Given the description of an element on the screen output the (x, y) to click on. 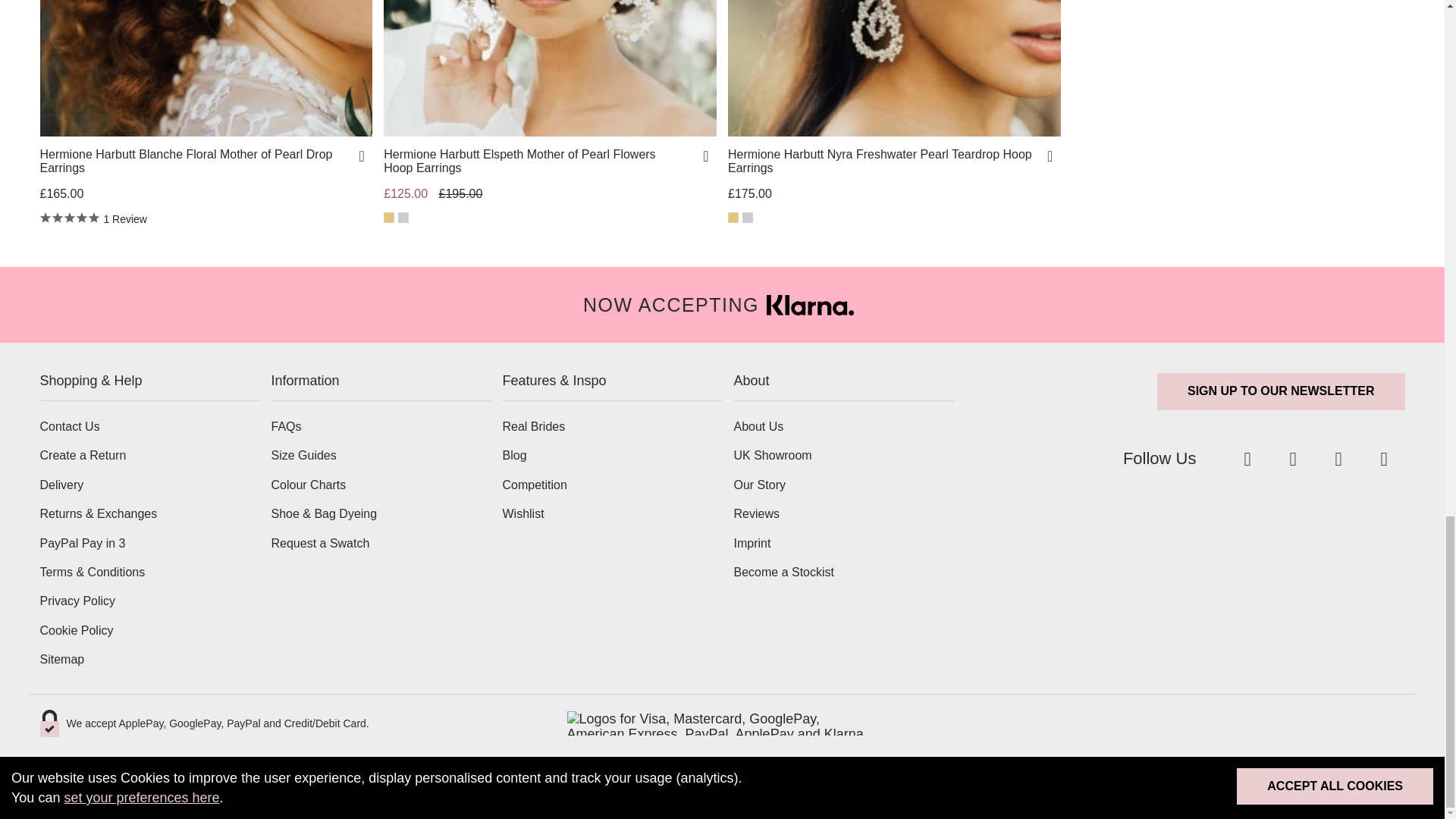
View this product (194, 162)
View this product in: Silver (747, 217)
Find us on instagram (1337, 458)
View this product (883, 162)
View this product in: Gold (389, 217)
View this product (539, 162)
View this product in: Silver (403, 217)
View this product in: Gold (733, 217)
Find us on facebook (1292, 458)
Find us on twitter (1246, 458)
